Given the description of an element on the screen output the (x, y) to click on. 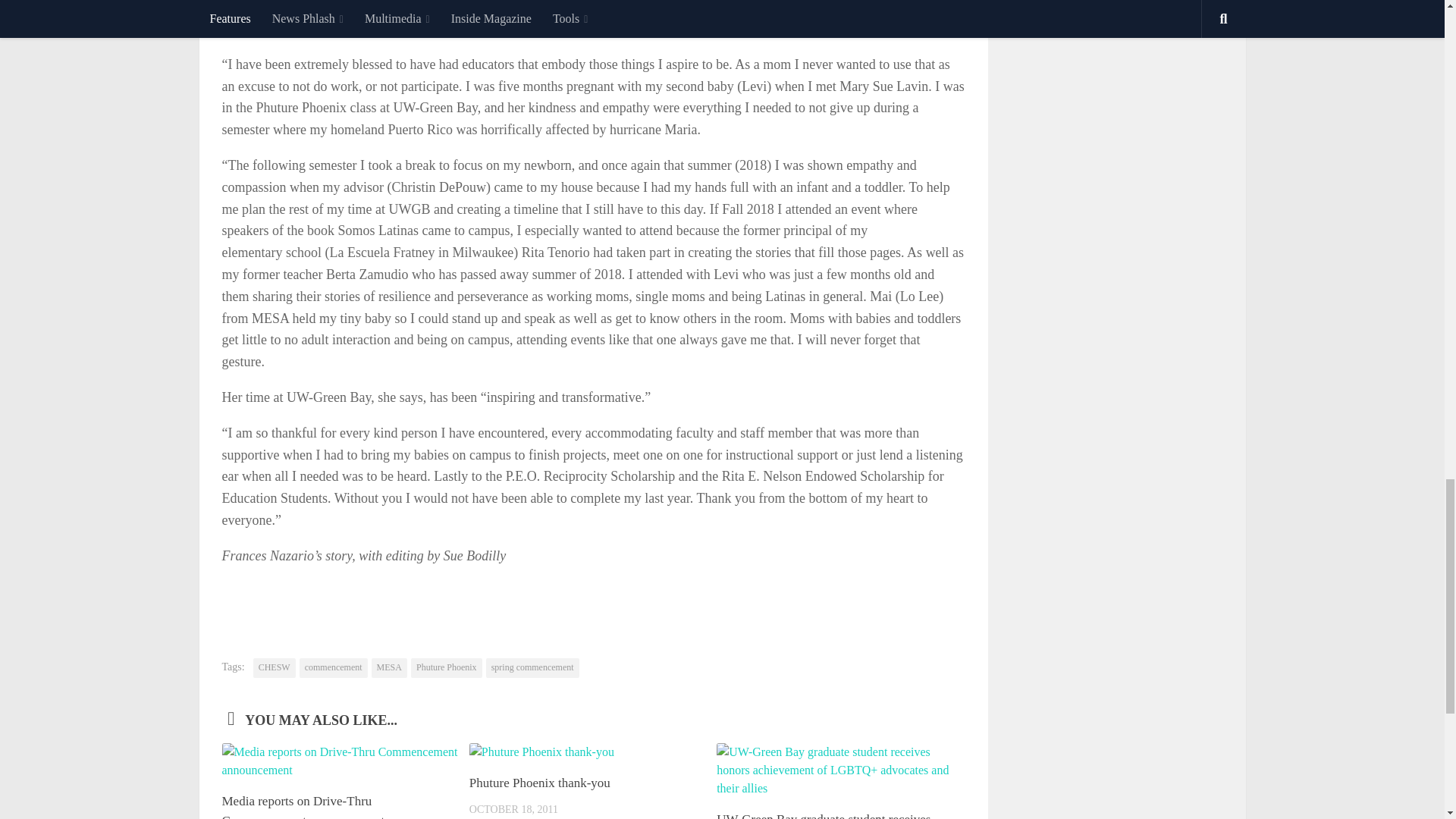
MESA (389, 668)
CHESW (274, 668)
Phuture Phoenix (445, 668)
Phuture Phoenix thank-you (539, 782)
Media reports on Drive-Thru Commencement announcement (302, 806)
spring commencement (532, 668)
commencement (333, 668)
